Given the description of an element on the screen output the (x, y) to click on. 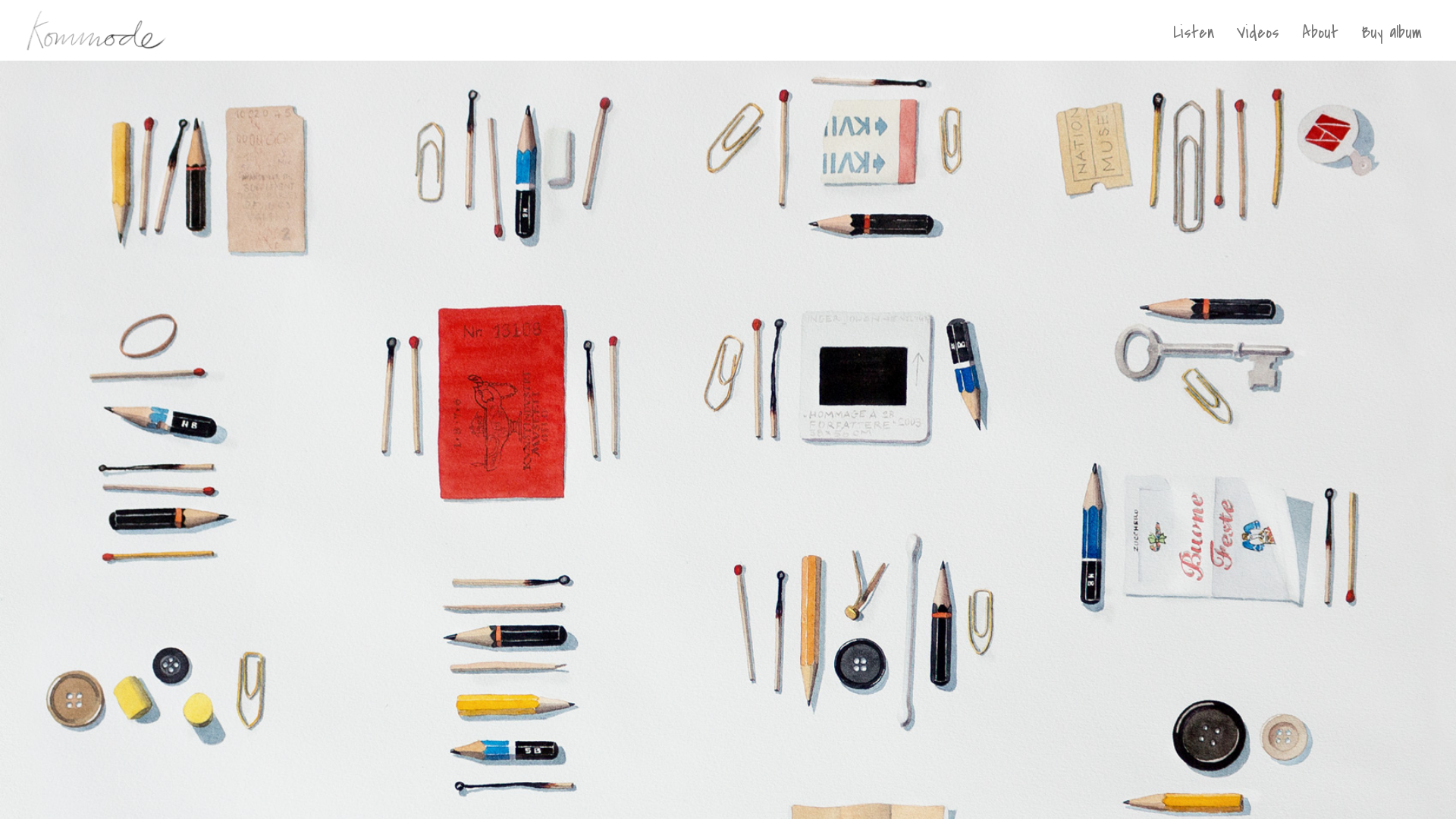
Buy album Element type: text (1391, 43)
Listen Element type: text (1193, 43)
Videos Element type: text (1257, 43)
About Element type: text (1320, 43)
